Given the description of an element on the screen output the (x, y) to click on. 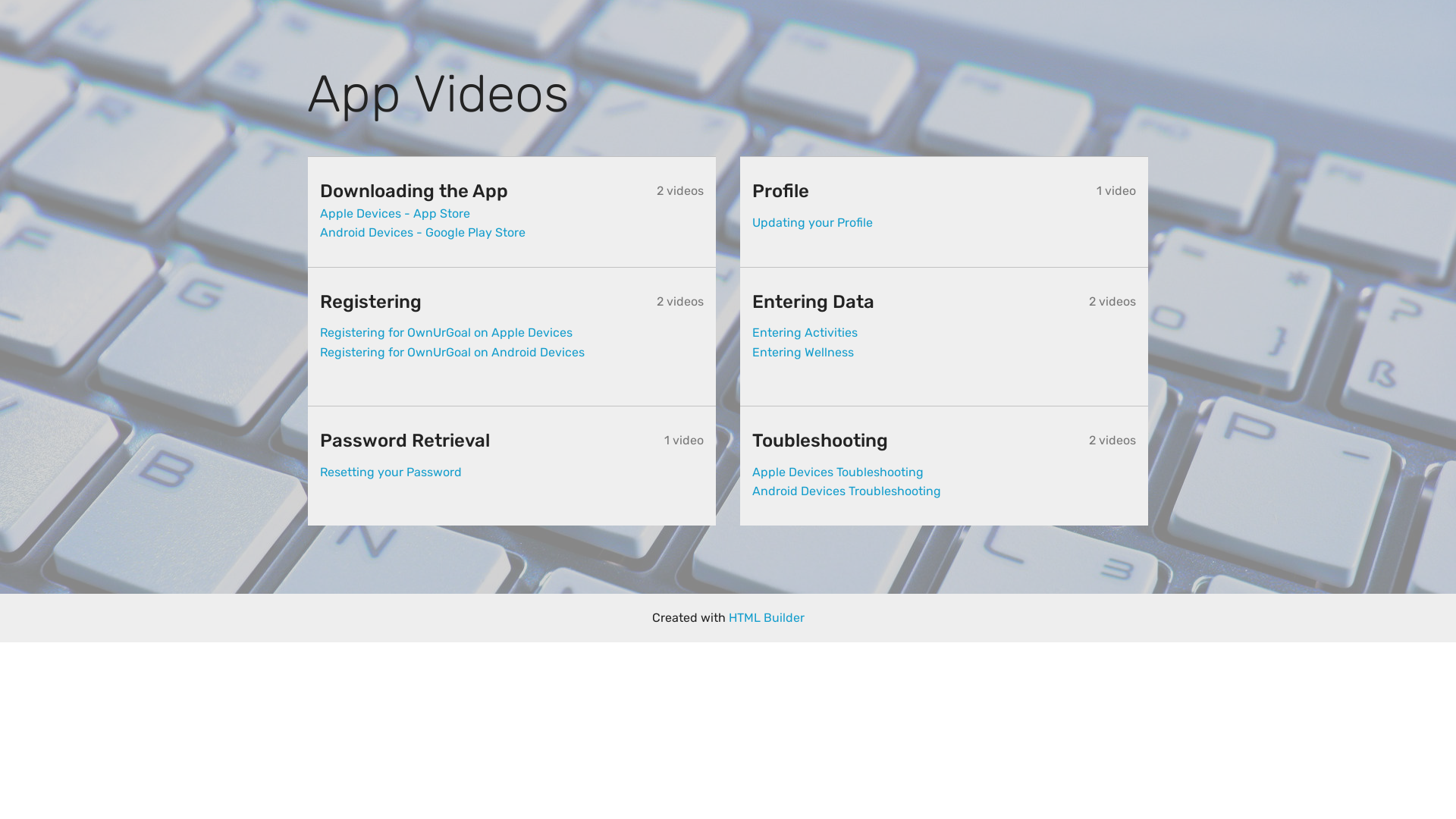
Registering for OwnUrGoal on Apple Devices Element type: text (446, 332)
Resetting your Password Element type: text (390, 471)
Android Devices Troubleshooting Element type: text (846, 490)
HTML Builder Element type: text (765, 617)
Apple Devices Toubleshooting Element type: text (837, 471)
Entering Activities Element type: text (804, 332)
Apple Devices - App Store Element type: text (395, 213)
Updating your Profile Element type: text (812, 222)
Registering for OwnUrGoal on Android Devices Element type: text (452, 352)
Android Devices - Google Play Store Element type: text (422, 232)
Entering Wellness Element type: text (802, 352)
